Given the description of an element on the screen output the (x, y) to click on. 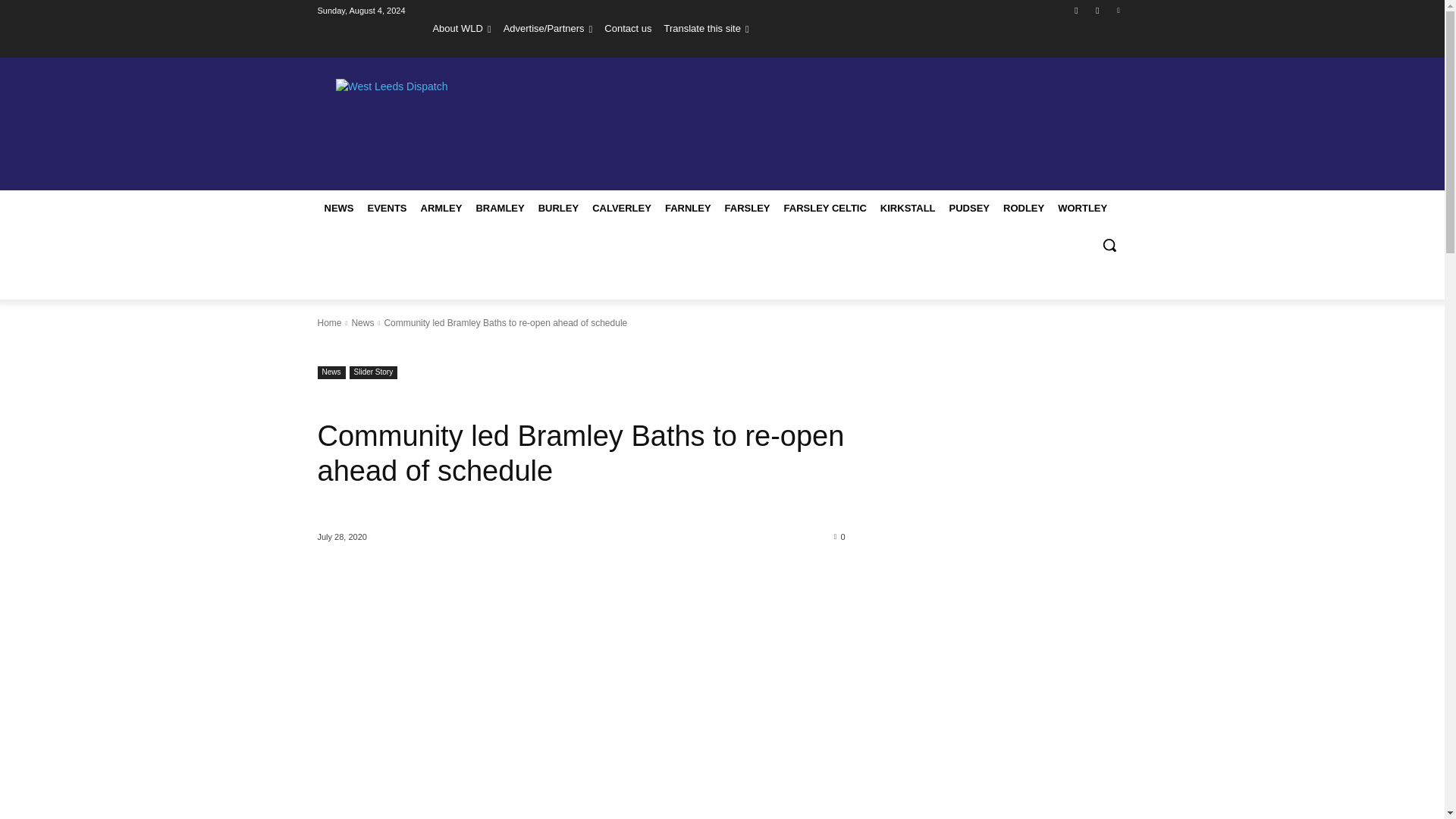
About WLD (461, 28)
Contact us (627, 28)
Translate this site (705, 28)
